Given the description of an element on the screen output the (x, y) to click on. 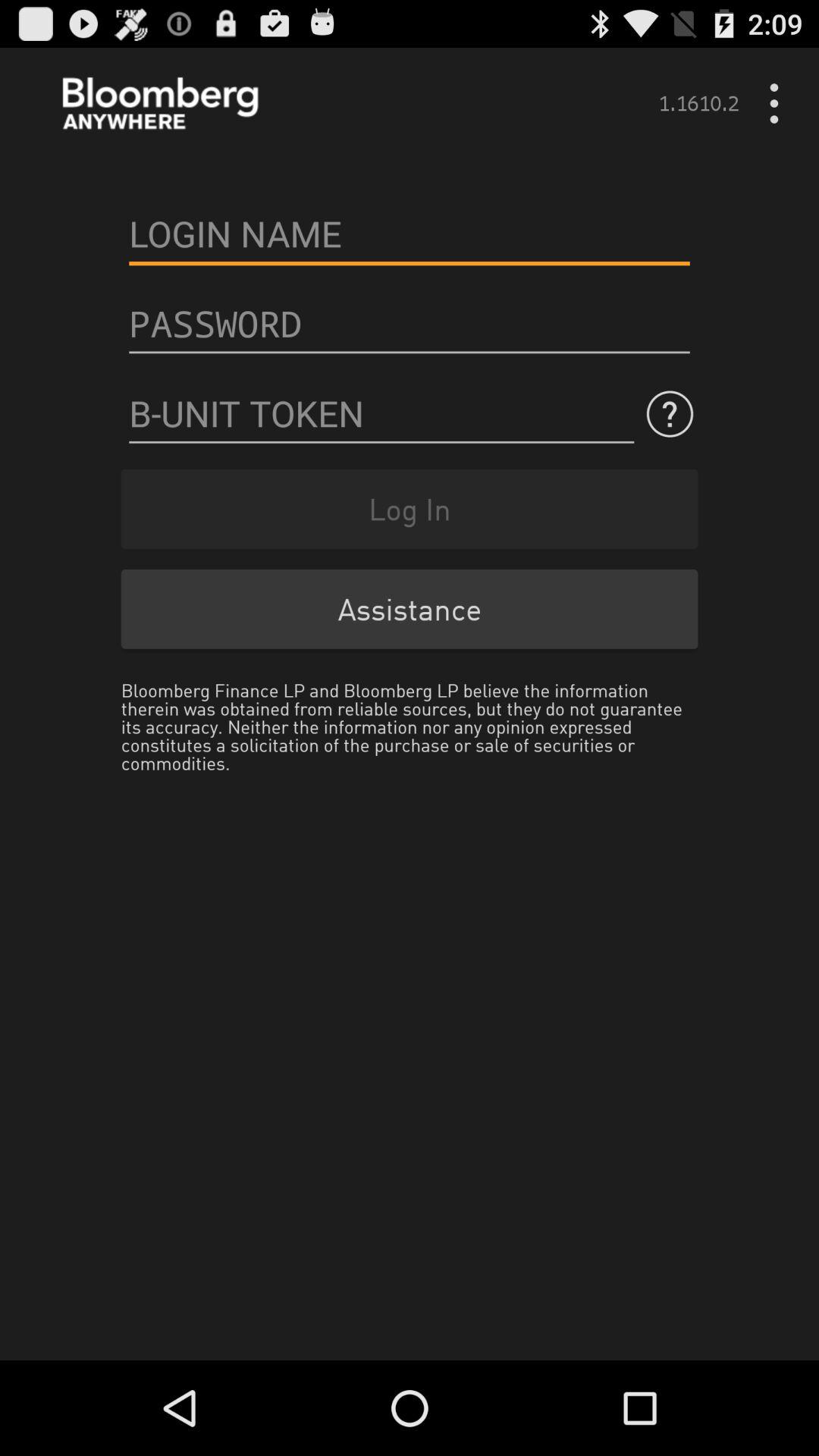
choose icon above the assistance item (409, 508)
